Given the description of an element on the screen output the (x, y) to click on. 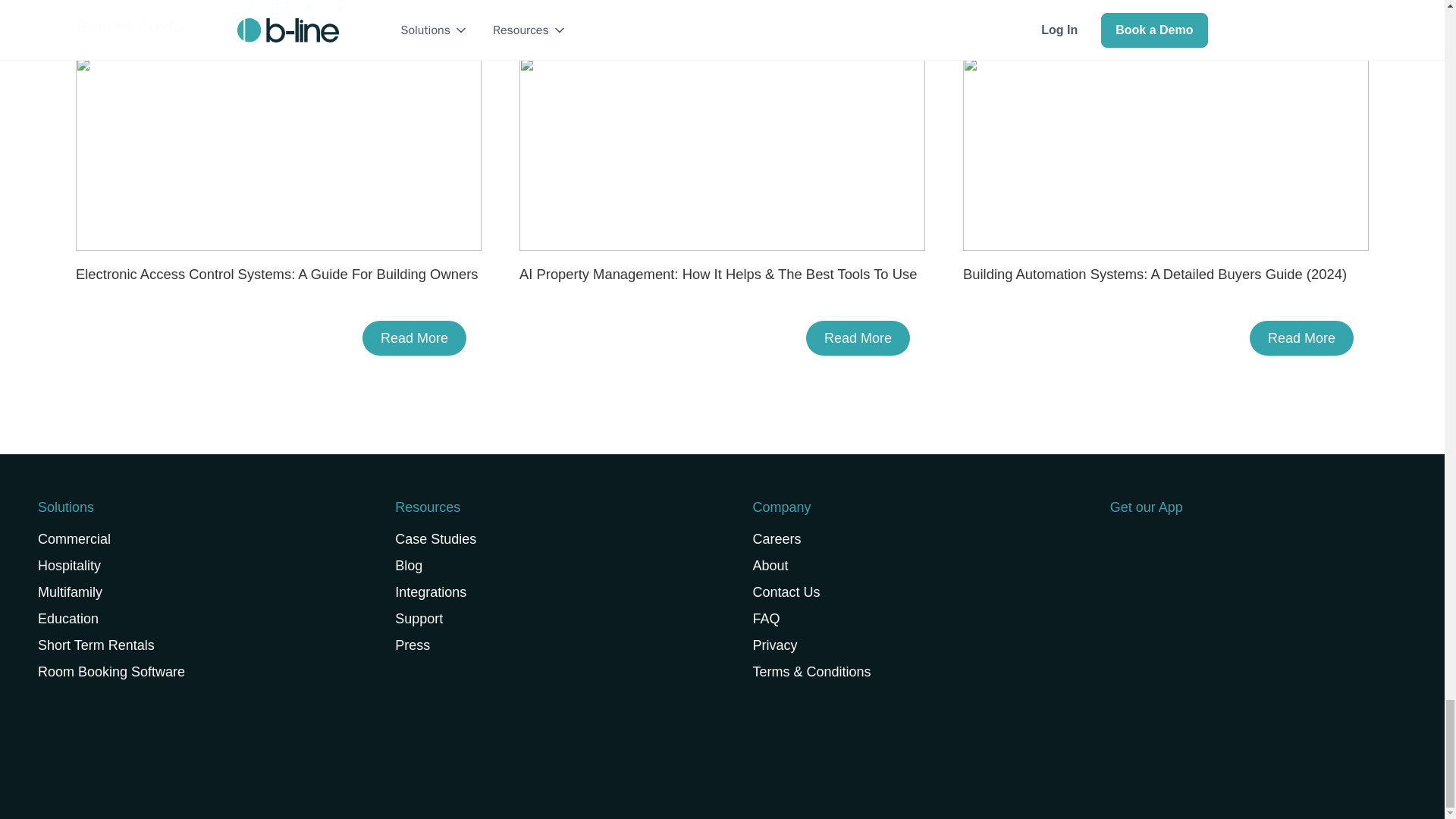
Hospitality (193, 570)
Read More (858, 338)
Multifamily (193, 596)
Commercial (193, 543)
Read More (1301, 338)
Read More (413, 338)
Education (193, 623)
